Given the description of an element on the screen output the (x, y) to click on. 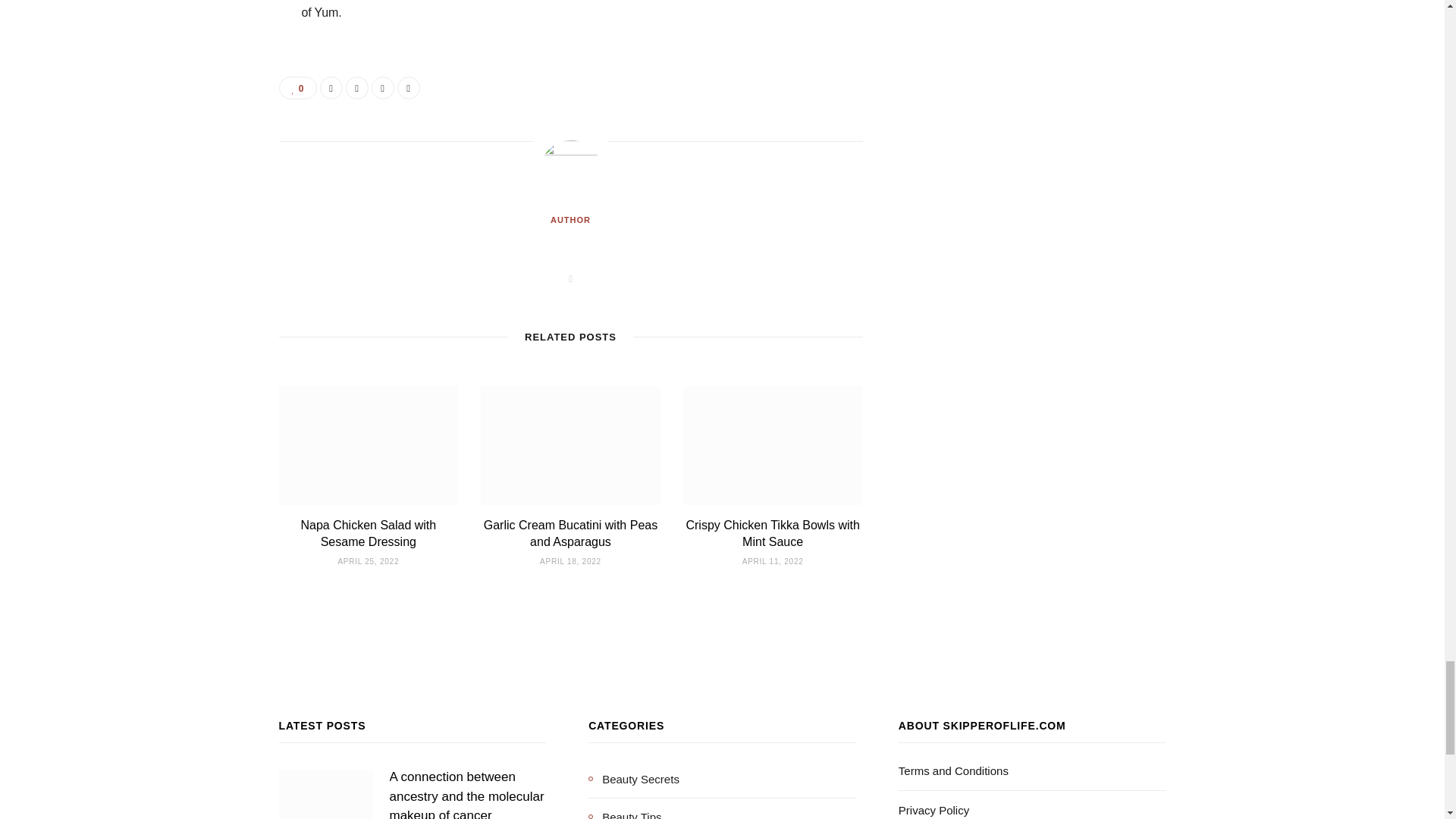
APRIL 11, 2022 (772, 561)
Garlic Cream Bucatini with Peas and Asparagus (570, 532)
Crispy Chicken Tikka Bowls with Mint Sauce (772, 532)
0 (298, 87)
Share on Facebook (331, 87)
Share on Twitter (357, 87)
Pinterest (382, 87)
APRIL 18, 2022 (570, 561)
Napa Chicken Salad with Sesame Dressing (367, 532)
APRIL 25, 2022 (367, 561)
Email (408, 87)
